Given the description of an element on the screen output the (x, y) to click on. 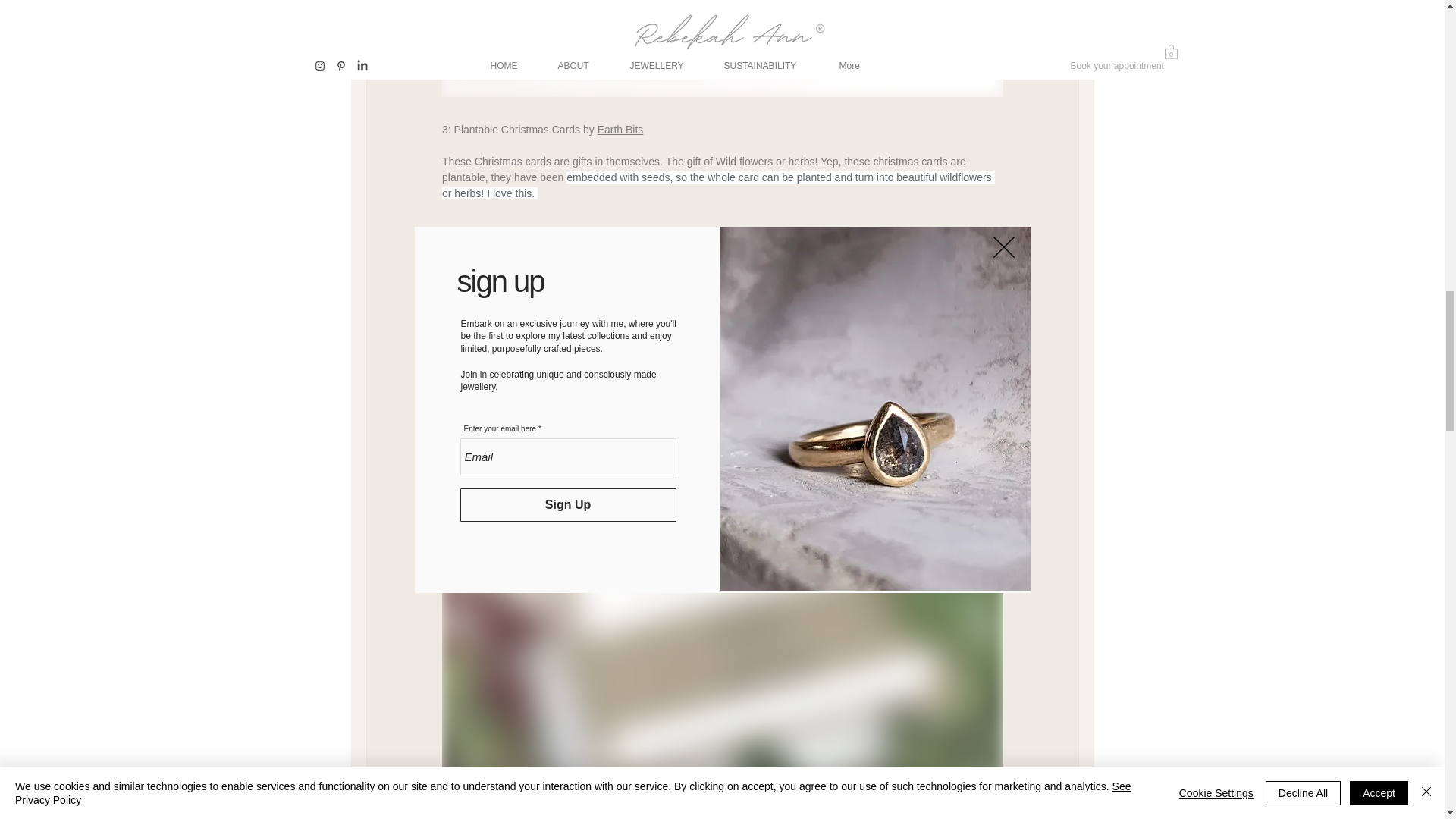
Earth Bits (619, 129)
Eco Friend Crackers (501, 816)
